Given the description of an element on the screen output the (x, y) to click on. 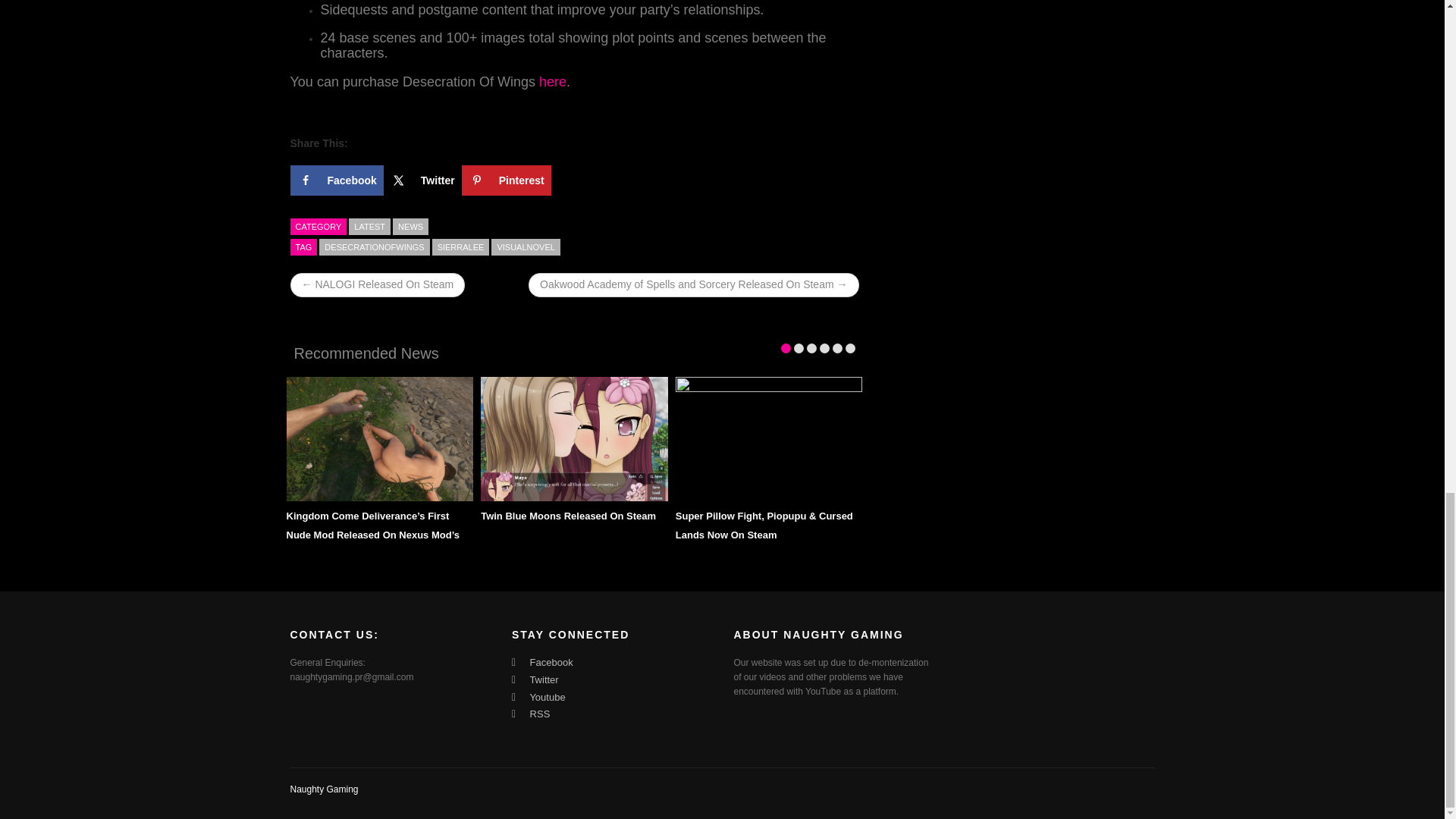
Share on X (422, 180)
Share on Facebook (335, 180)
Save to Pinterest (506, 180)
